Given the description of an element on the screen output the (x, y) to click on. 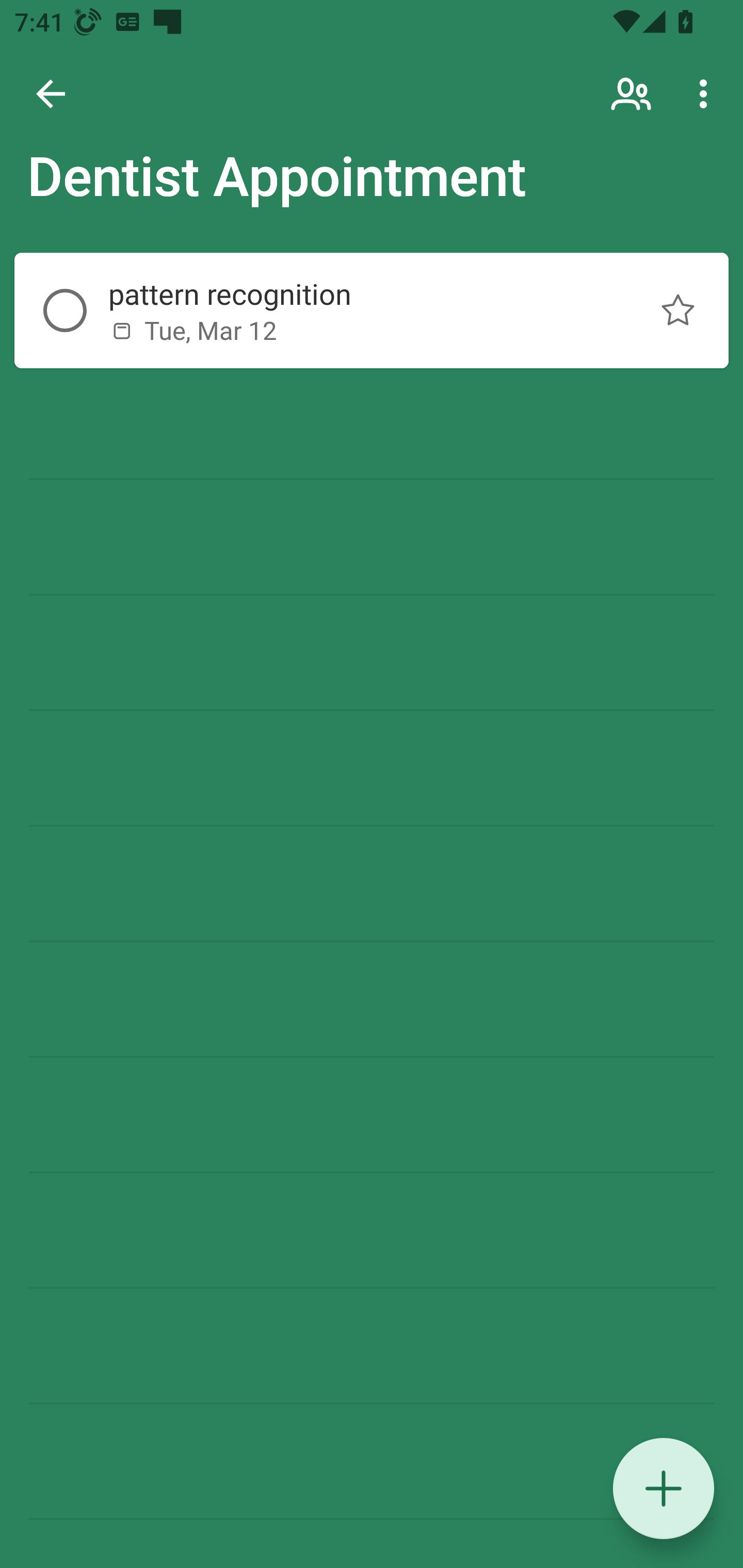
Back (50, 93)
Sharing options (632, 93)
More options (706, 93)
Incomplete task pattern recognition, Button (64, 310)
Normal task pattern recognition, Button (677, 310)
pattern recognition (356, 293)
Add a task (663, 1488)
